Given the description of an element on the screen output the (x, y) to click on. 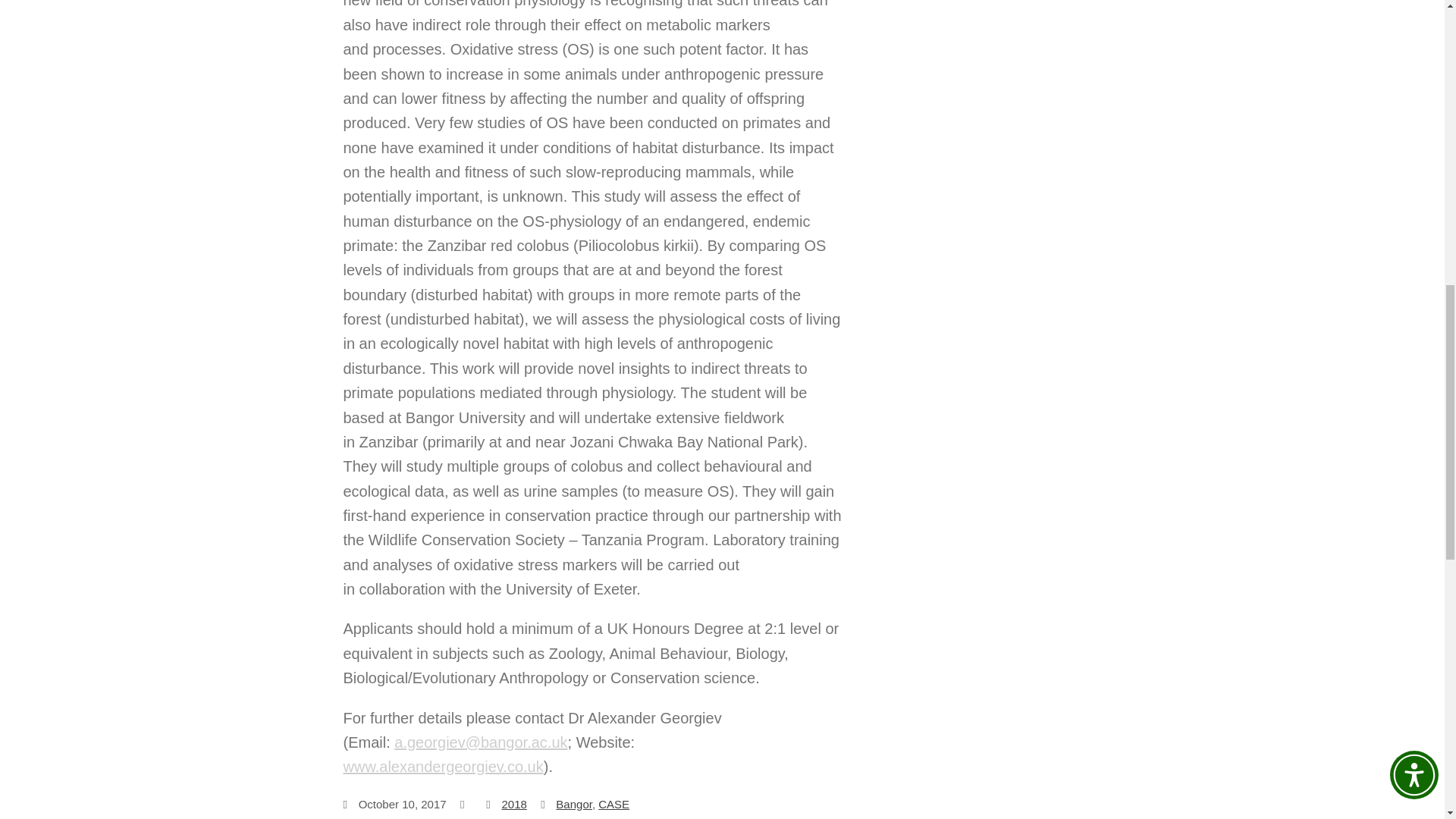
View all posts tagged Bangor (574, 803)
View all posts tagged CASE (613, 803)
View all posts in 2018 (512, 803)
